Given the description of an element on the screen output the (x, y) to click on. 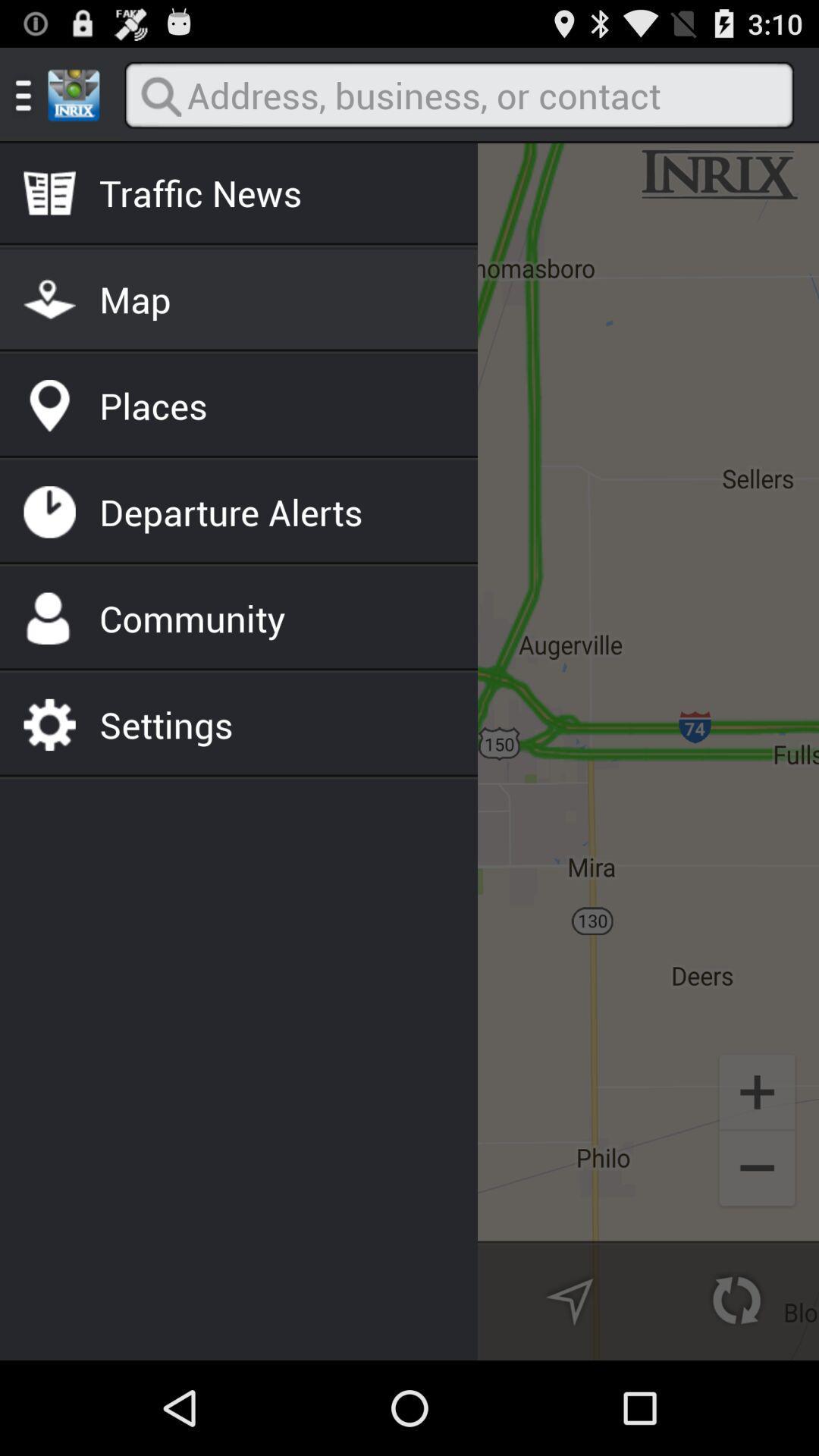
swipe until the traffic news item (200, 192)
